Given the description of an element on the screen output the (x, y) to click on. 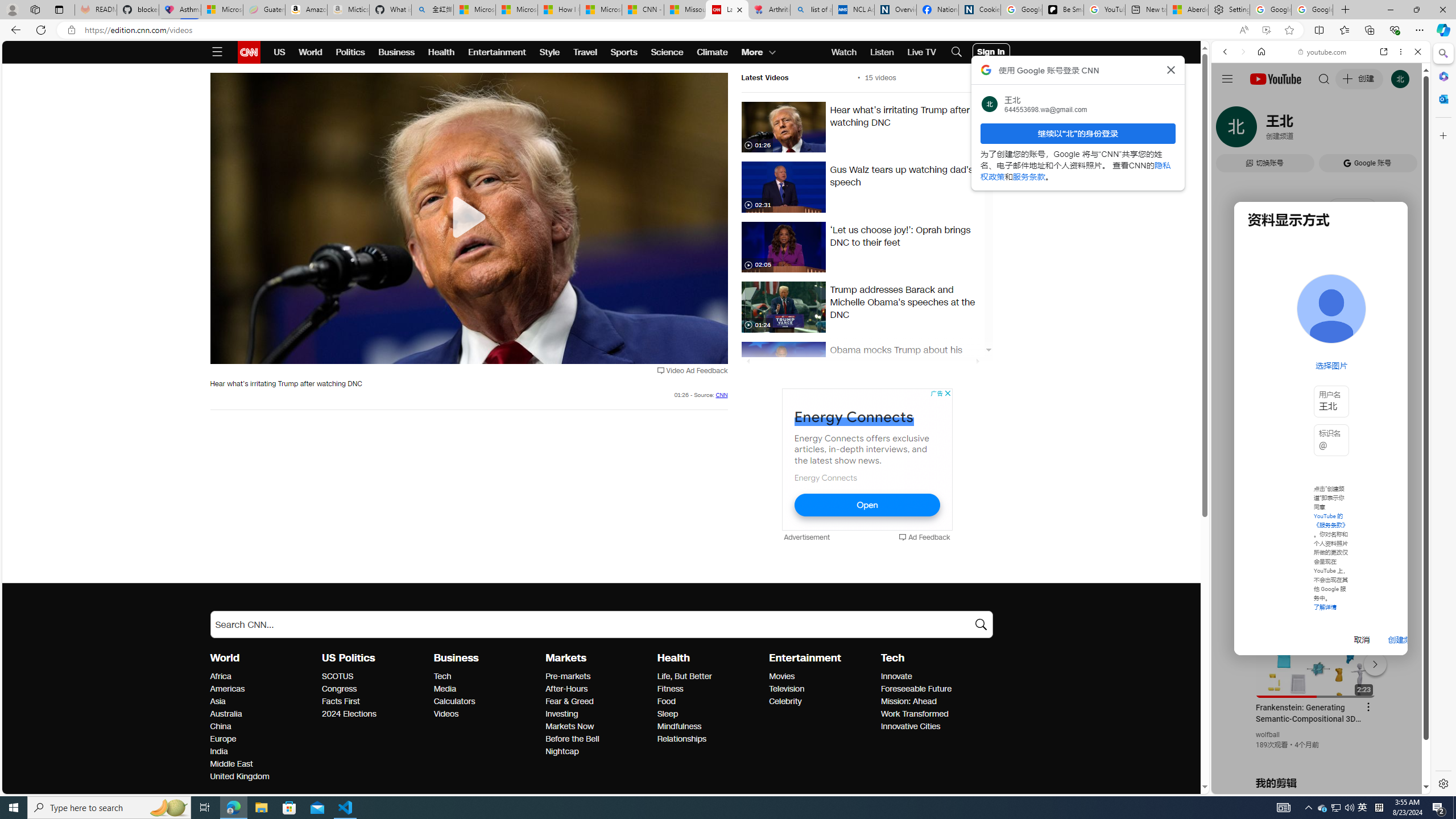
CNN - MSN (642, 9)
Food (709, 701)
Open (866, 504)
US Politics Congress (338, 688)
Health Food (665, 701)
